Given the description of an element on the screen output the (x, y) to click on. 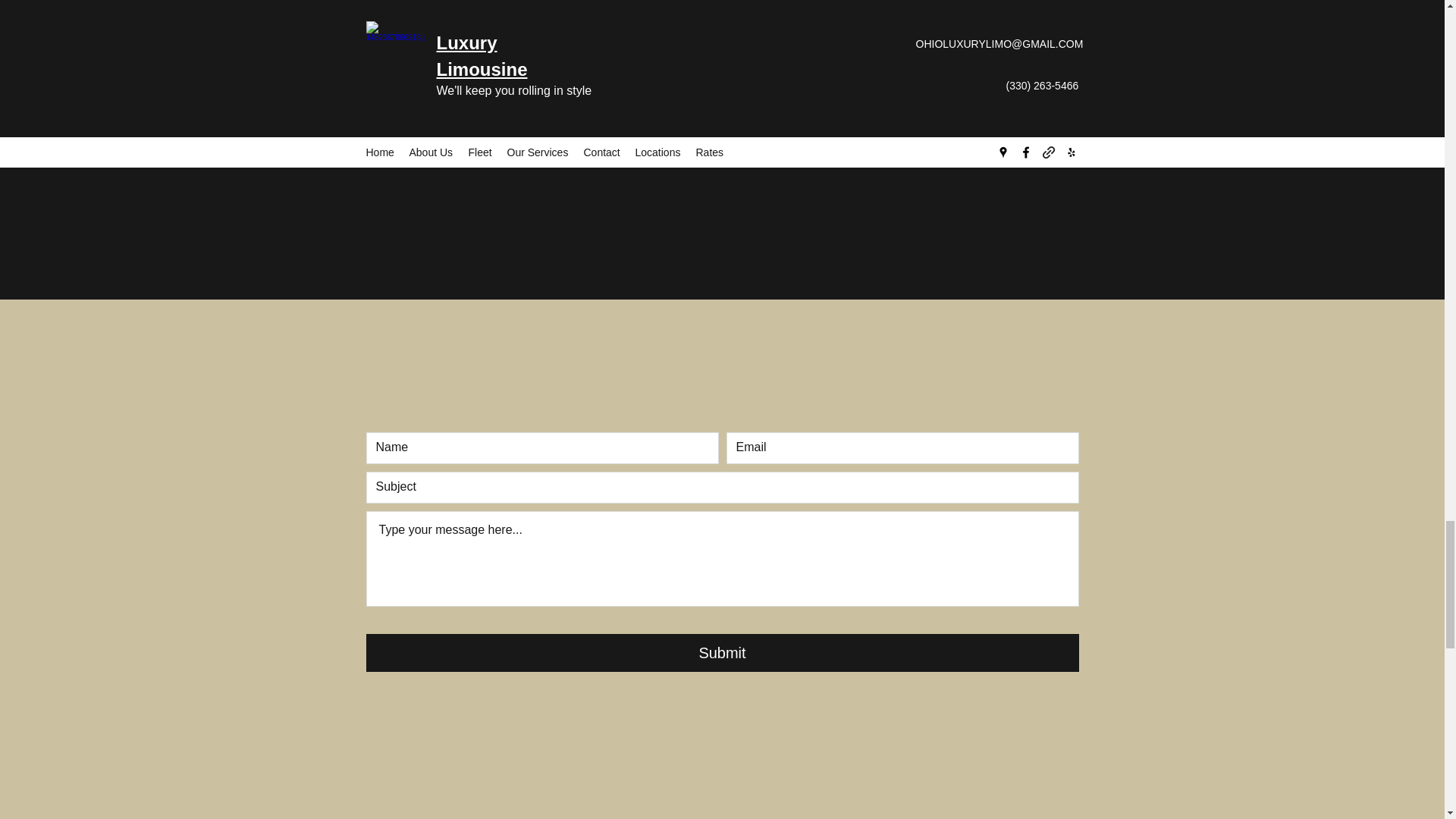
Submit (721, 652)
